Given the description of an element on the screen output the (x, y) to click on. 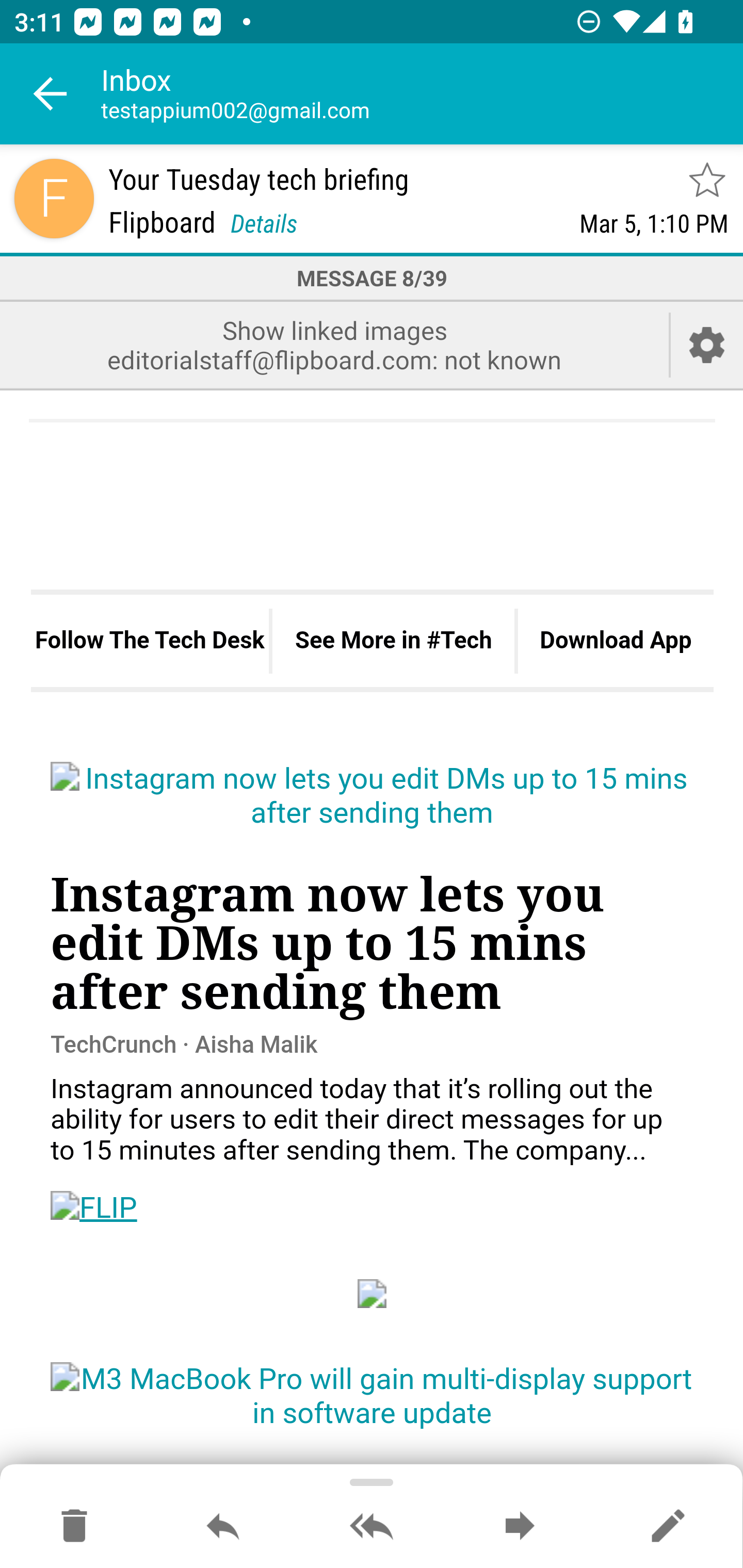
Navigate up (50, 93)
Inbox testappium002@gmail.com (422, 93)
Sender contact button (53, 198)
Account setup (706, 344)
Follow The Tech Desk Follow  The Tech Desk (149, 640)
See More in #Tech (393, 640)
Download App (615, 640)
FLIP (93, 1208)
data: (372, 1293)
Move to Deleted (74, 1527)
Reply (222, 1527)
Reply all (371, 1527)
Forward (519, 1527)
Reply as new (667, 1527)
